Given the description of an element on the screen output the (x, y) to click on. 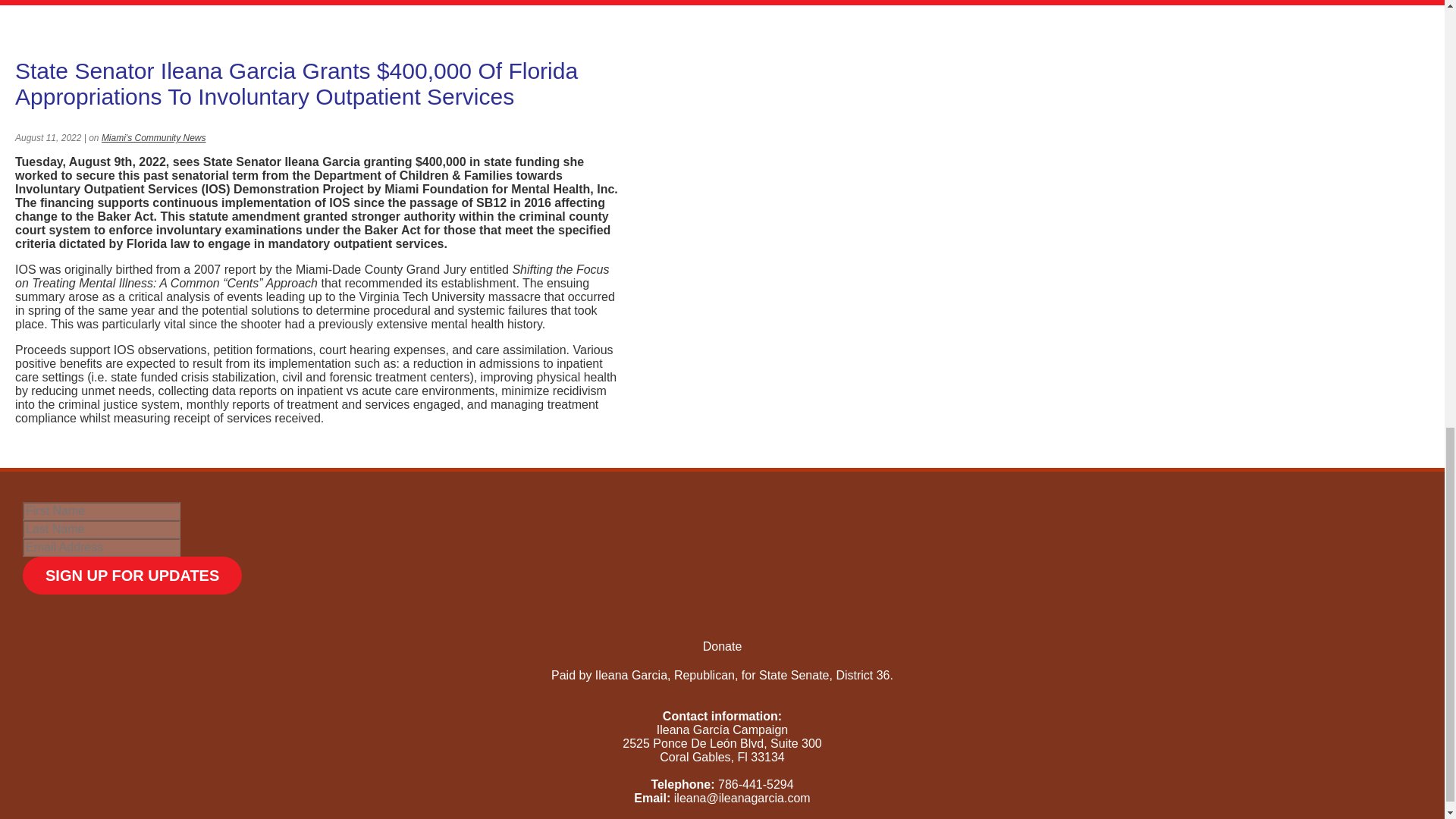
SIGN UP FOR UPDATES (132, 575)
Miami's Community News (153, 137)
Donate (722, 645)
